Given the description of an element on the screen output the (x, y) to click on. 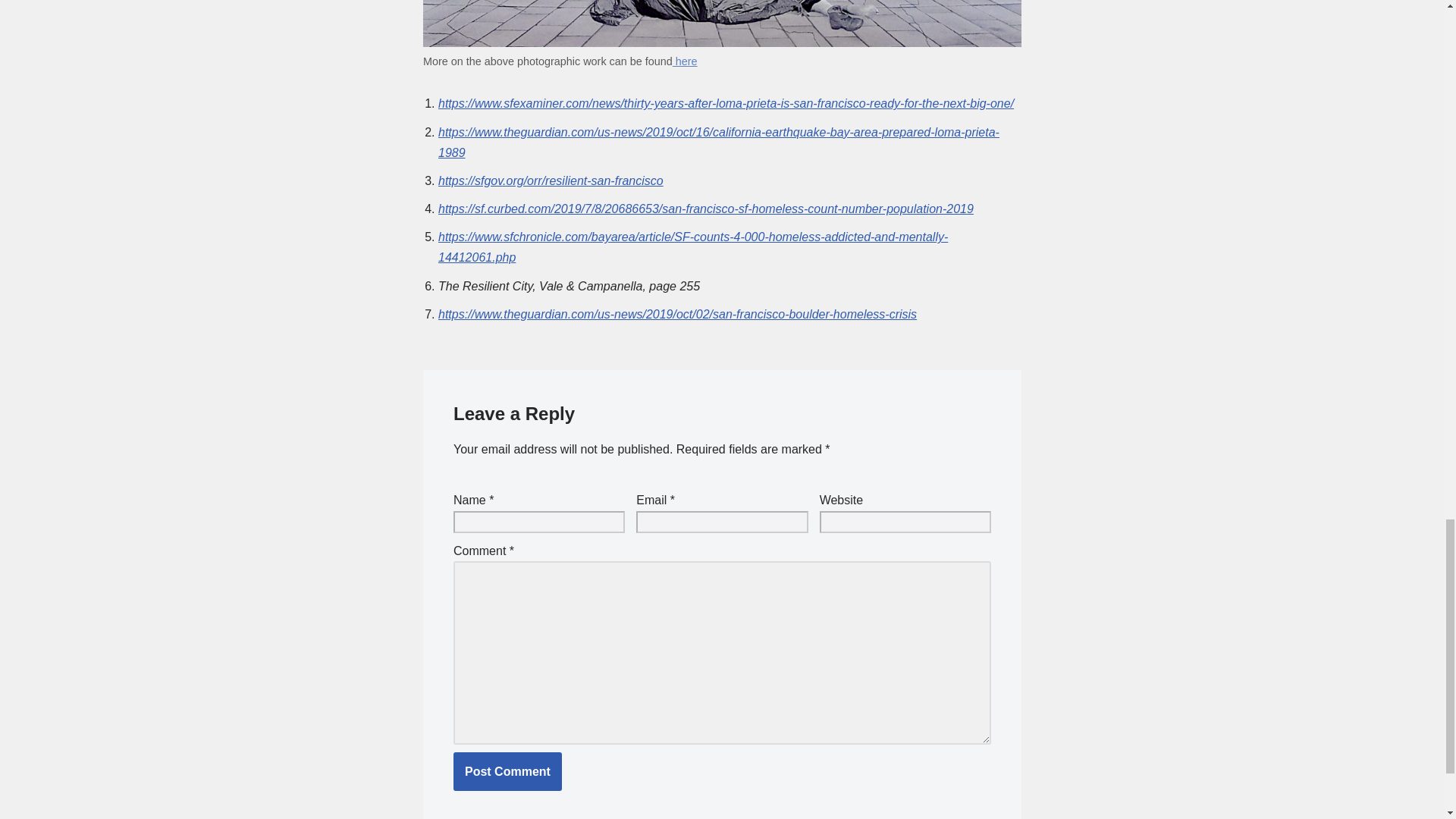
Post Comment (507, 771)
here (684, 61)
Post Comment (507, 771)
